Given the description of an element on the screen output the (x, y) to click on. 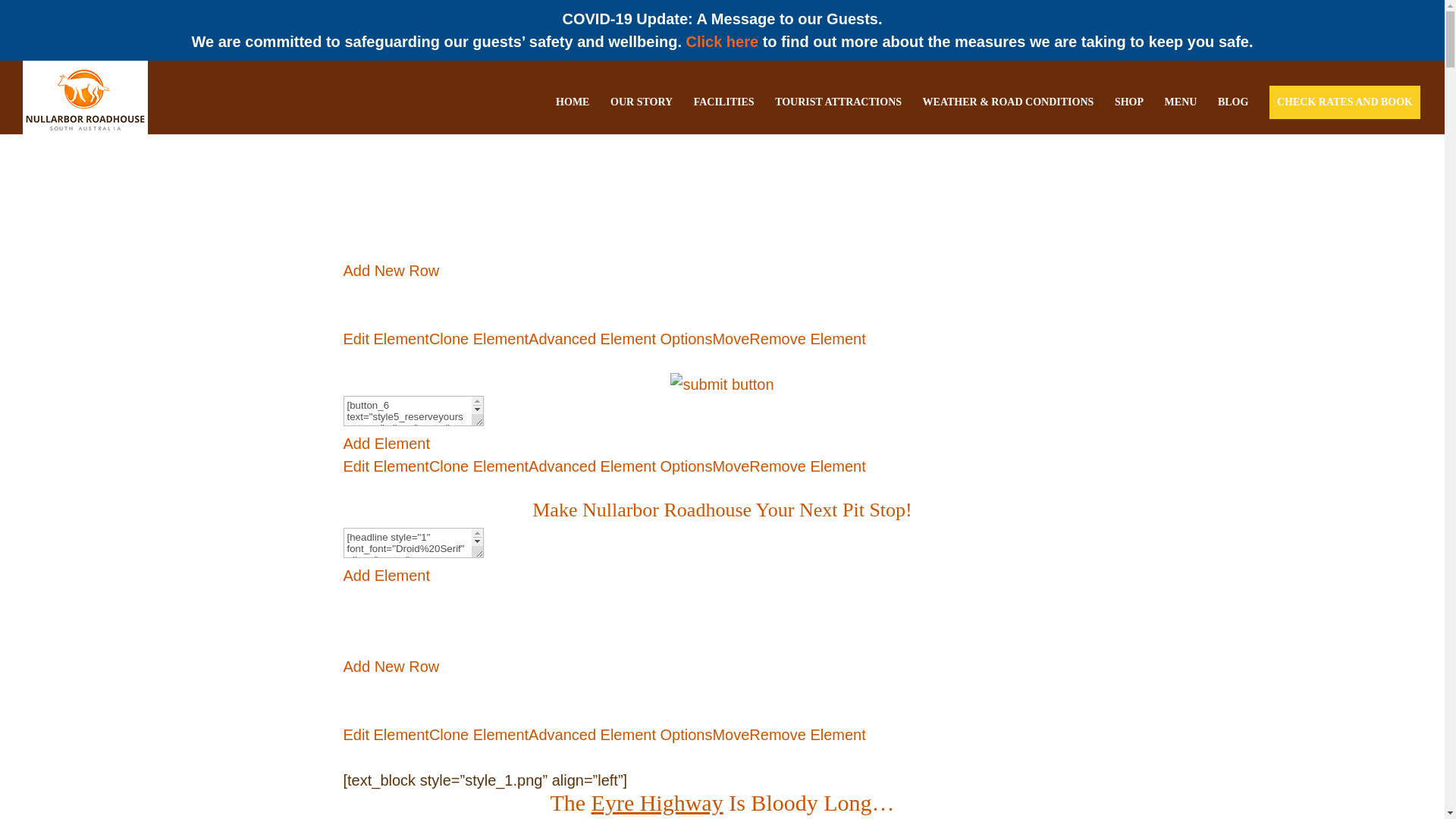
Remove Element (806, 466)
Remove Element (806, 338)
Edit Element (385, 466)
Edit Element (385, 338)
TOURIST ATTRACTIONS (837, 107)
SHOP (1128, 107)
MENU (1180, 107)
Move (730, 338)
OUR STORY (641, 107)
Add Element (385, 443)
Advanced Element Options (619, 466)
FACILITIES (724, 107)
Move (730, 466)
CHECK RATES AND BOOK (1344, 107)
Clone Element (478, 466)
